Given the description of an element on the screen output the (x, y) to click on. 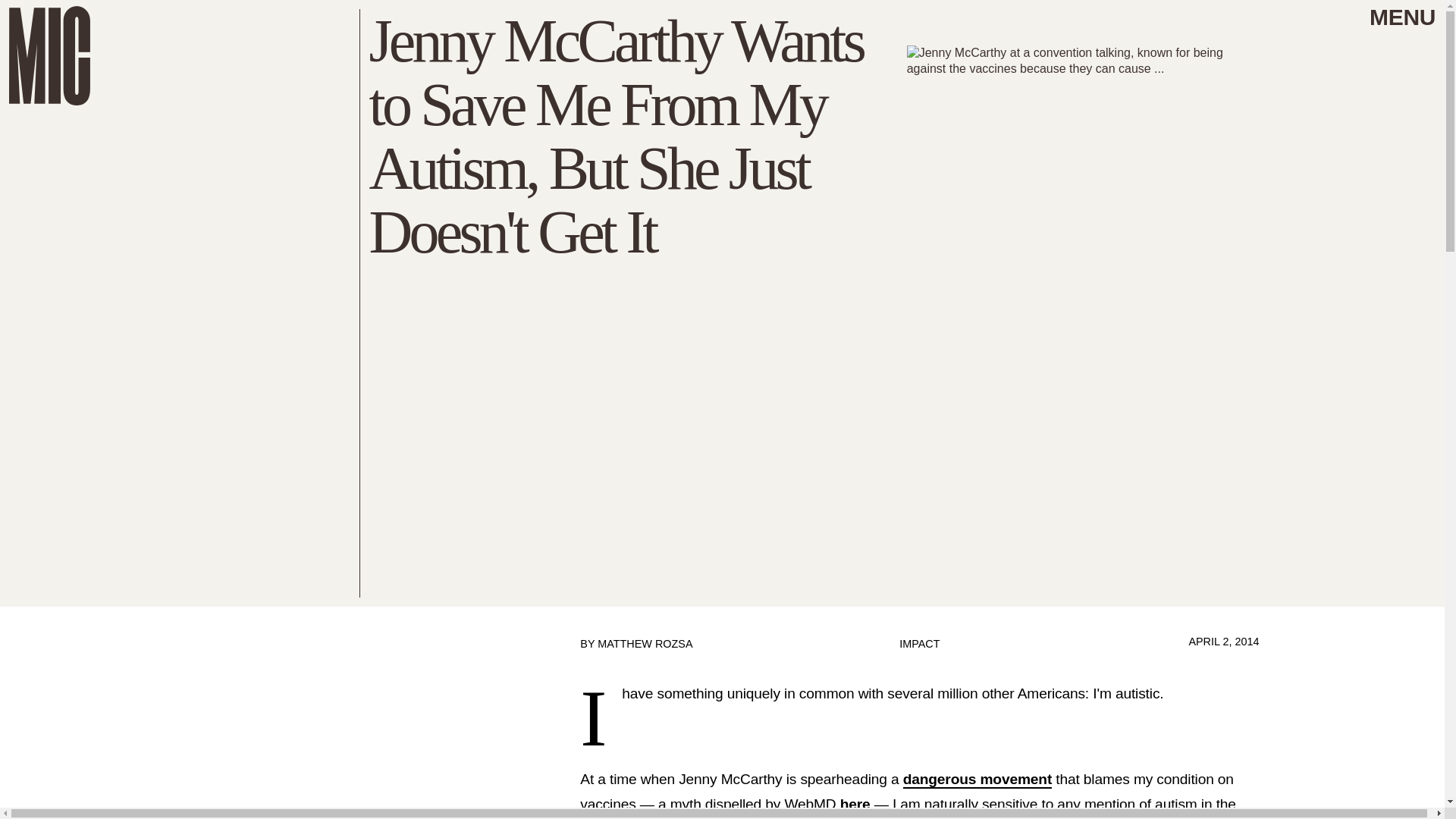
MATTHEW ROZSA (644, 644)
dangerous movement (977, 779)
here (855, 805)
